Given the description of an element on the screen output the (x, y) to click on. 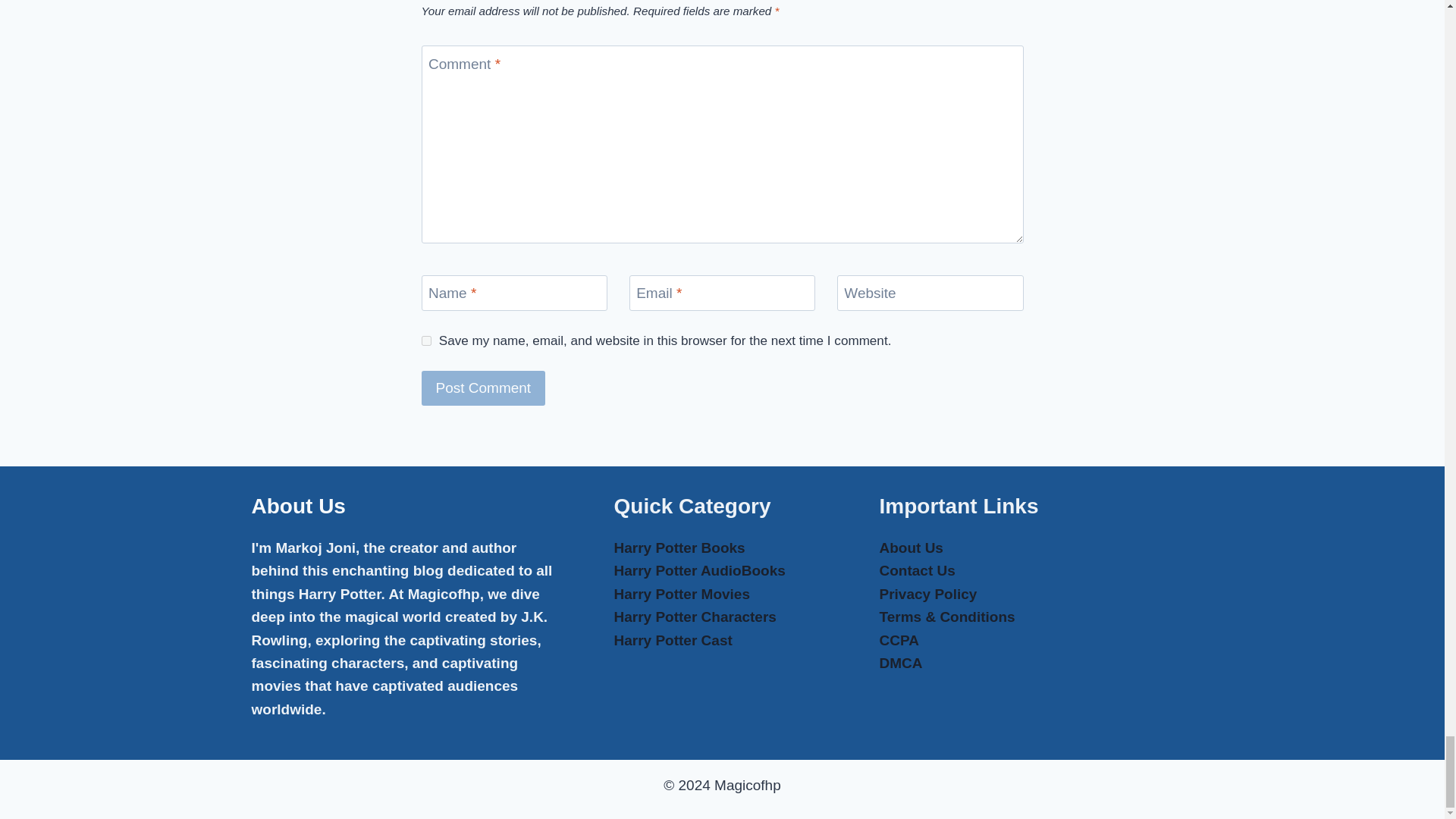
Post Comment (484, 388)
yes (426, 340)
